Given the description of an element on the screen output the (x, y) to click on. 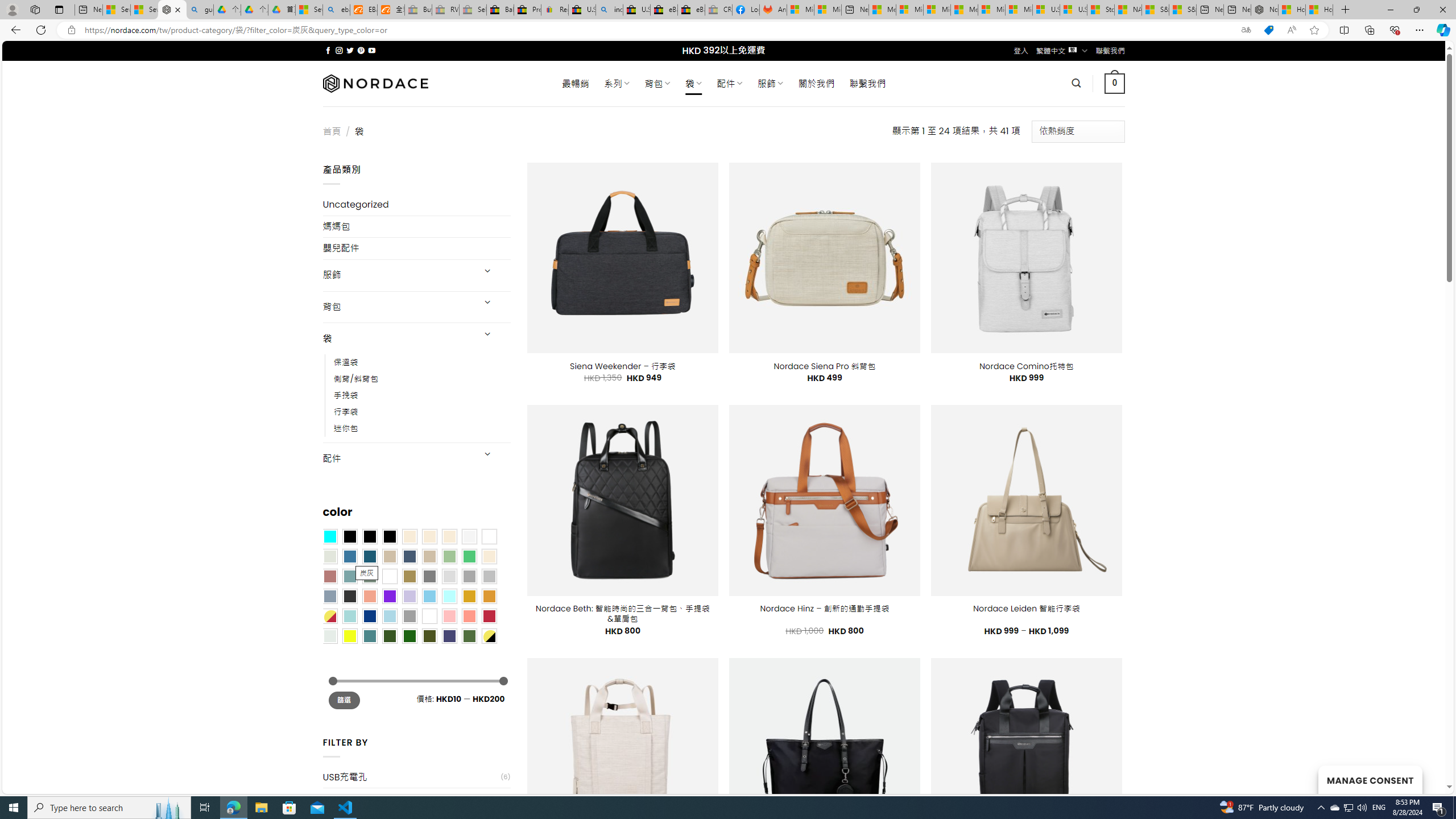
including - Search (609, 9)
Cream (449, 536)
